Given the description of an element on the screen output the (x, y) to click on. 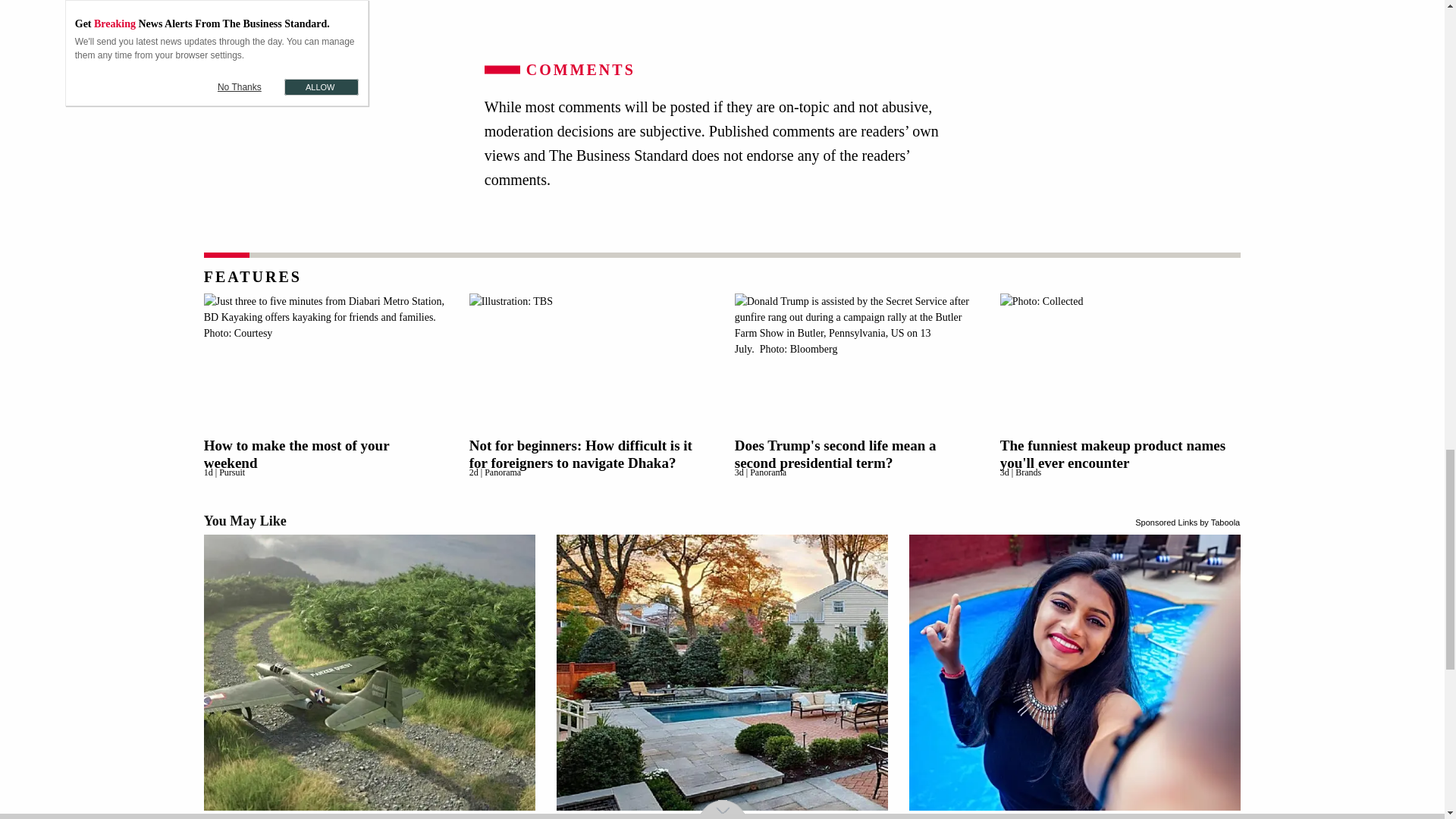
3rd party ad content (726, 15)
